Given the description of an element on the screen output the (x, y) to click on. 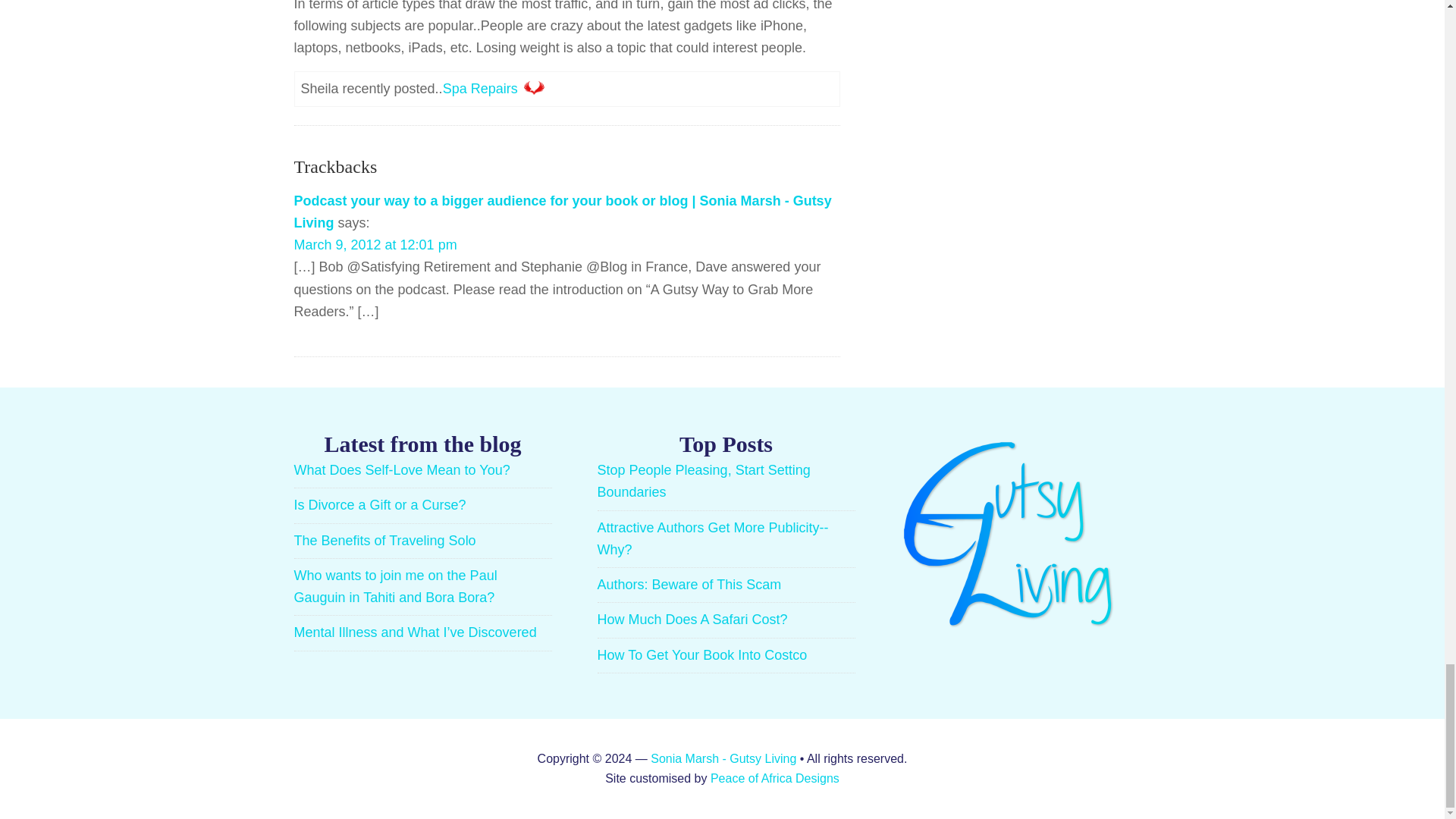
Sonia Marsh - Gutsy Living (723, 758)
